Given the description of an element on the screen output the (x, y) to click on. 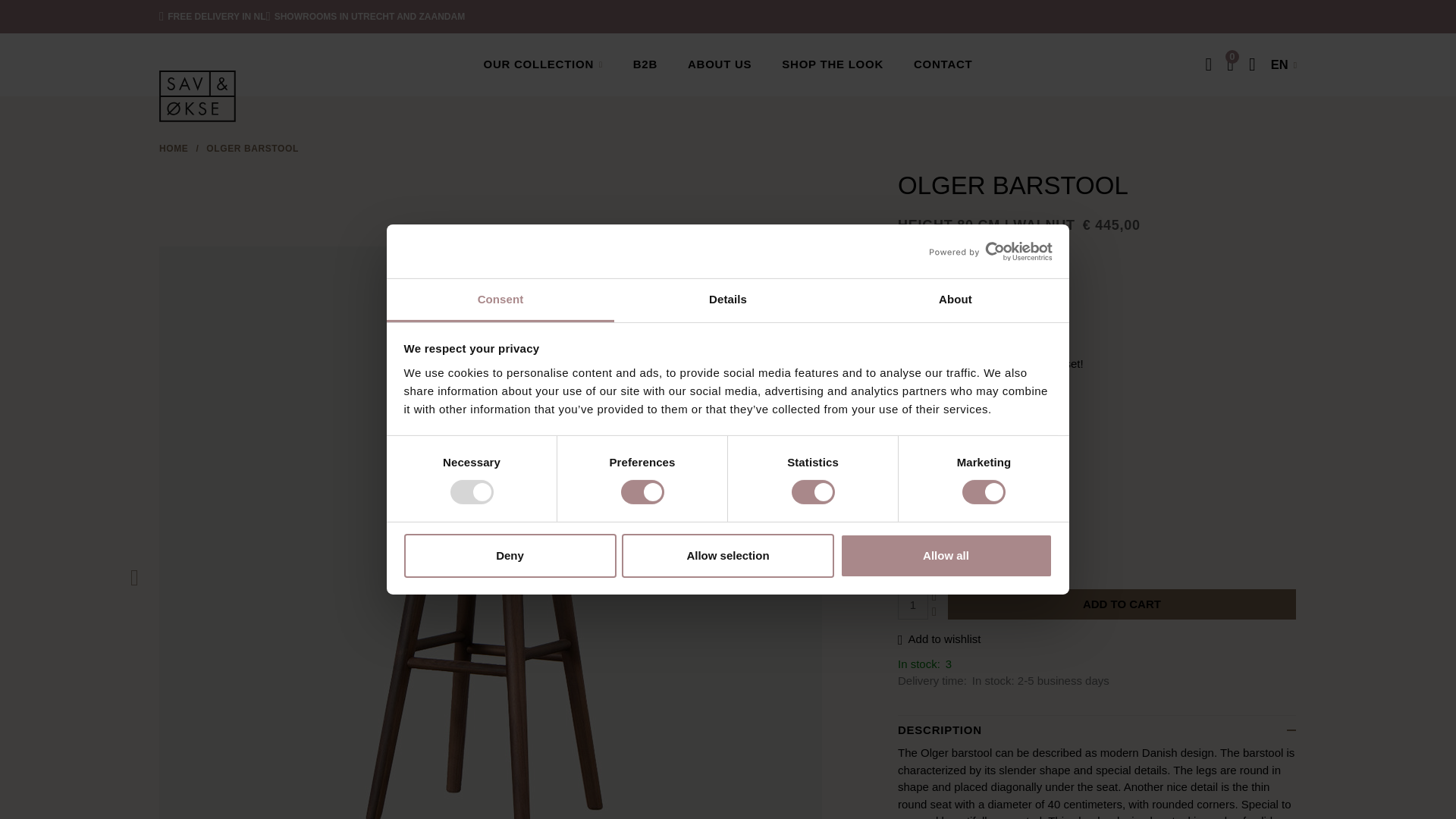
Consent (500, 300)
About (954, 300)
1 (913, 603)
Details (727, 300)
